Given the description of an element on the screen output the (x, y) to click on. 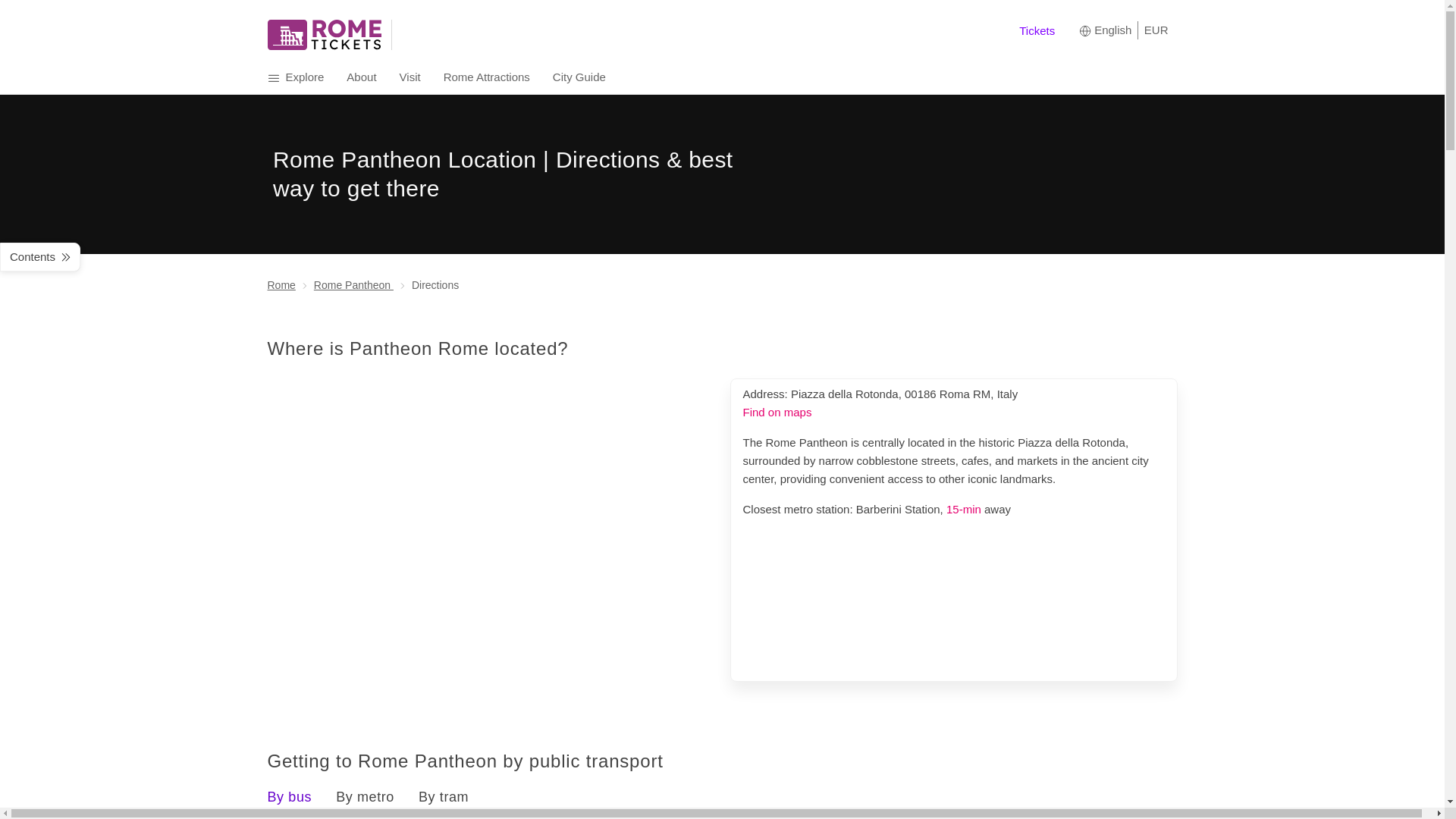
Tickets (1037, 30)
